Given the description of an element on the screen output the (x, y) to click on. 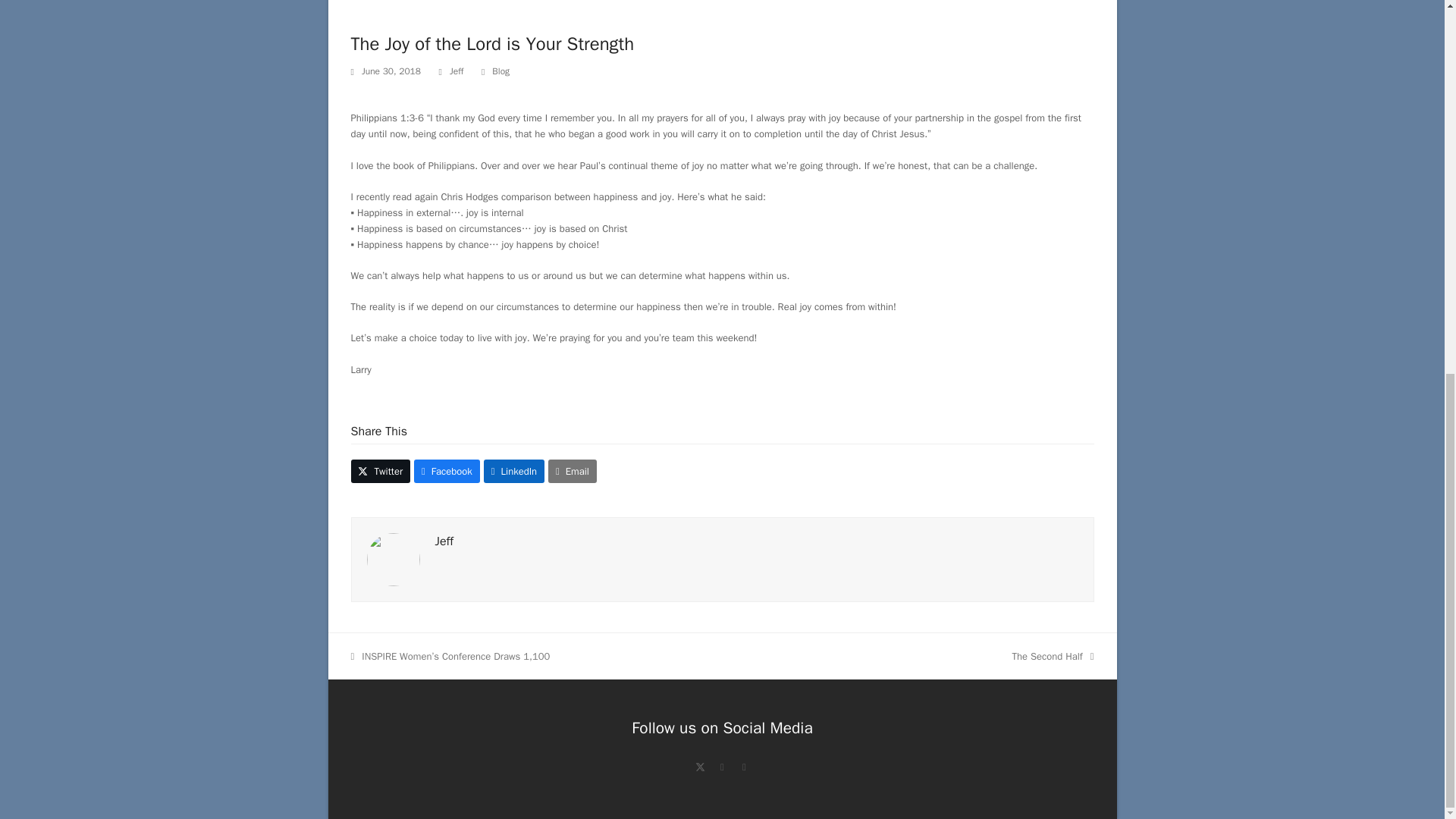
Visit Author Page (444, 540)
Visit Author Page (393, 558)
Posts by Jeff (456, 70)
